Given the description of an element on the screen output the (x, y) to click on. 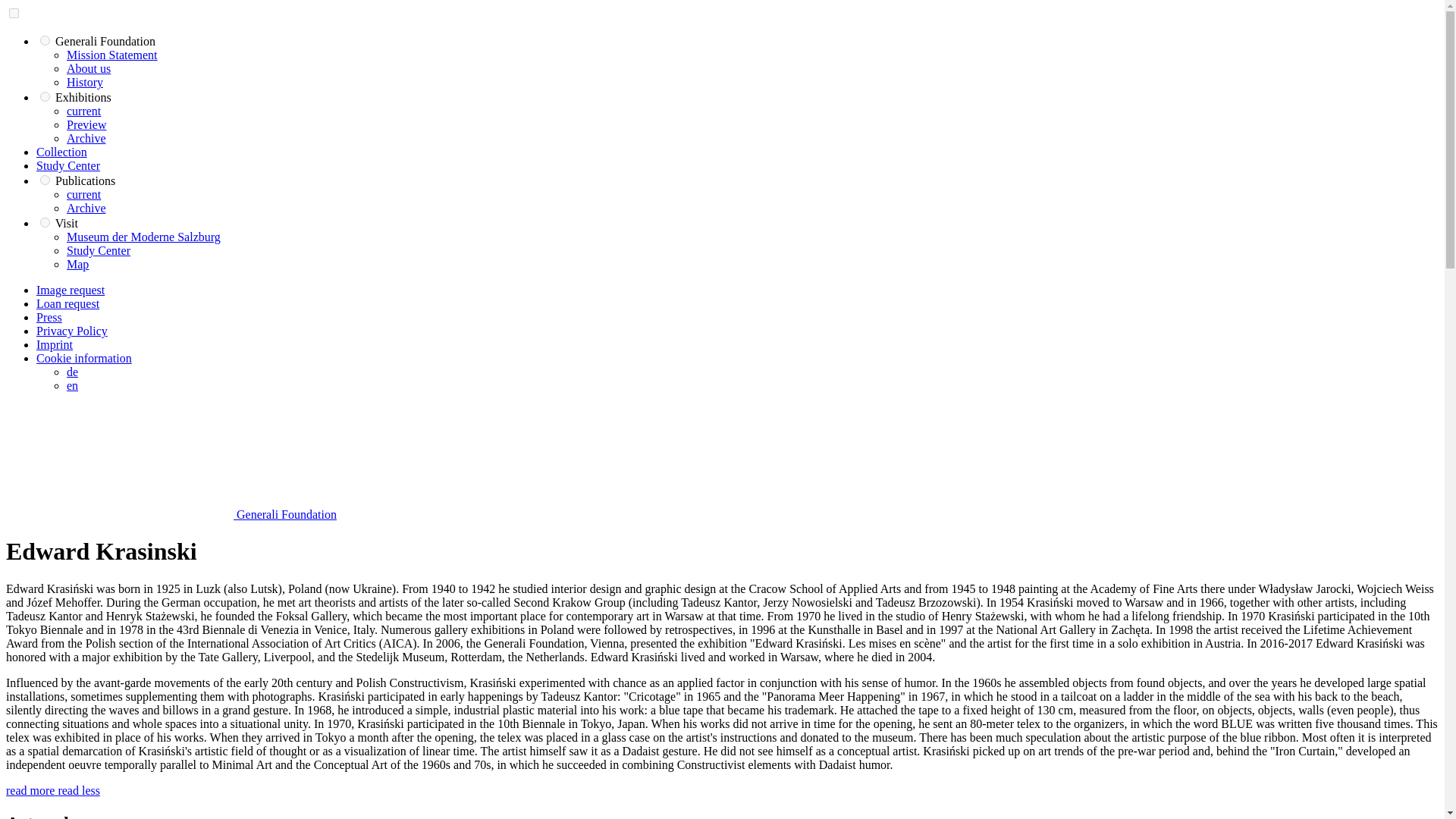
Archive (86, 207)
on (44, 40)
on (44, 180)
current (83, 110)
Study Center (68, 164)
Mission Statement (111, 54)
Collection (61, 151)
on (44, 96)
current (83, 194)
on (13, 13)
Privacy Policy (71, 330)
Loan request (67, 303)
Preview (86, 124)
History (84, 82)
Archive (86, 137)
